Given the description of an element on the screen output the (x, y) to click on. 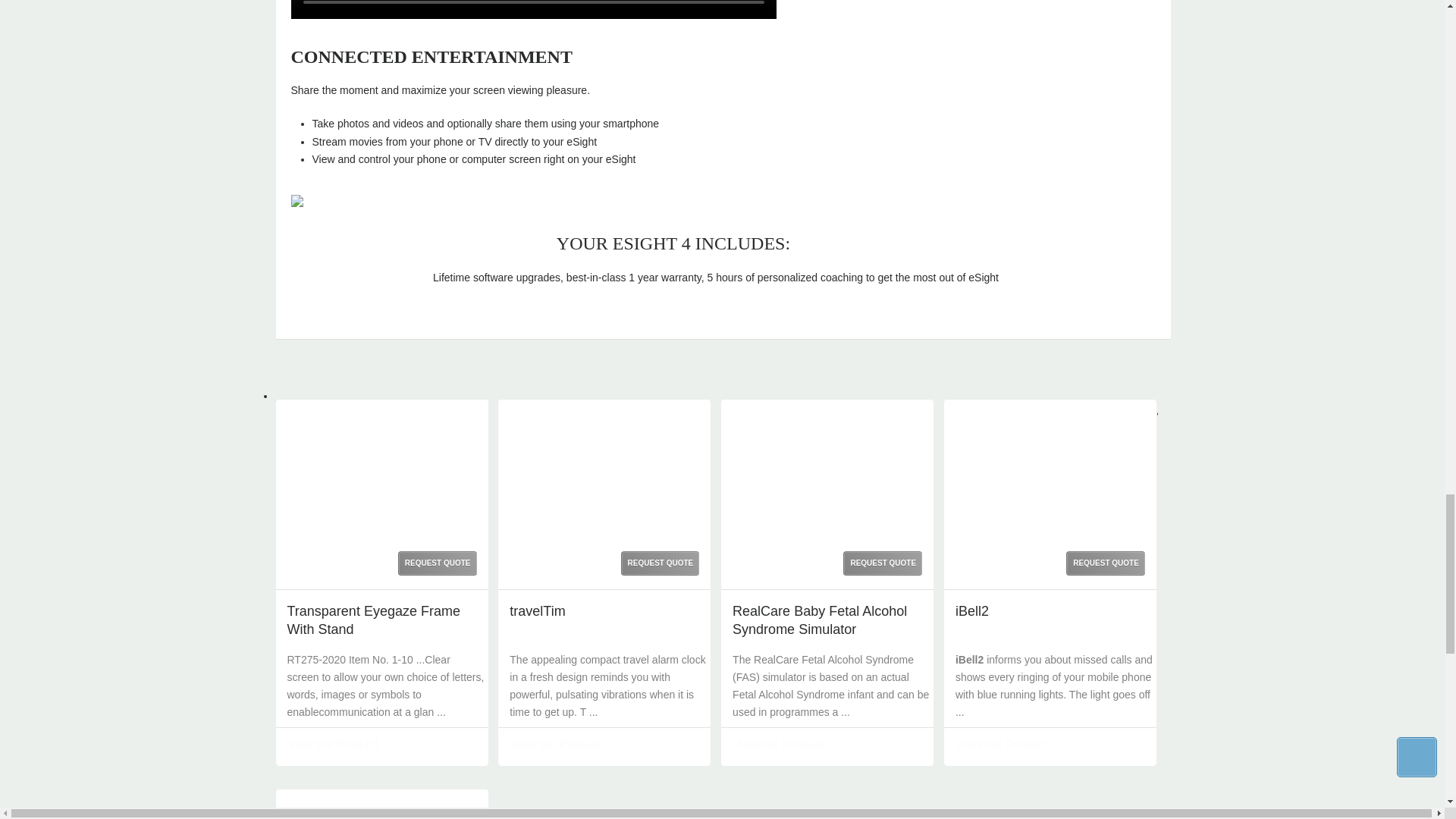
travelTim (536, 610)
travelTim (603, 467)
Transparent Eyegaze Frame With Stand (381, 467)
Transparent Eyegaze Frame With Stand (383, 619)
